Given the description of an element on the screen output the (x, y) to click on. 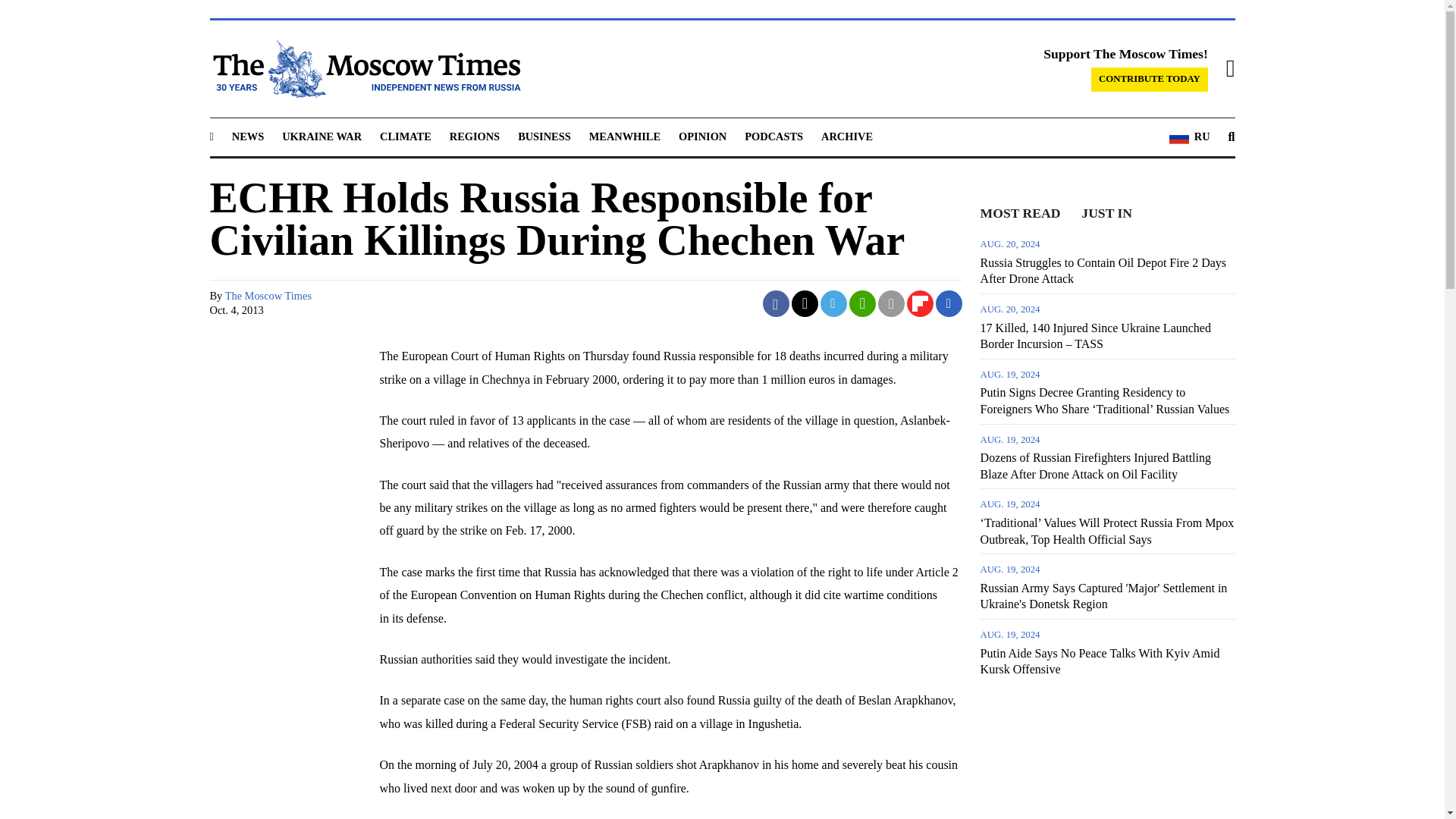
Share on Telegram (834, 303)
The Moscow Times - Independent News from Russia (364, 68)
NEWS (247, 136)
BUSINESS (544, 136)
ARCHIVE (846, 136)
Share on Twitter (805, 303)
RU (1189, 137)
Share on Flipboard (920, 303)
PODCASTS (773, 136)
CONTRIBUTE TODAY (1149, 79)
